Given the description of an element on the screen output the (x, y) to click on. 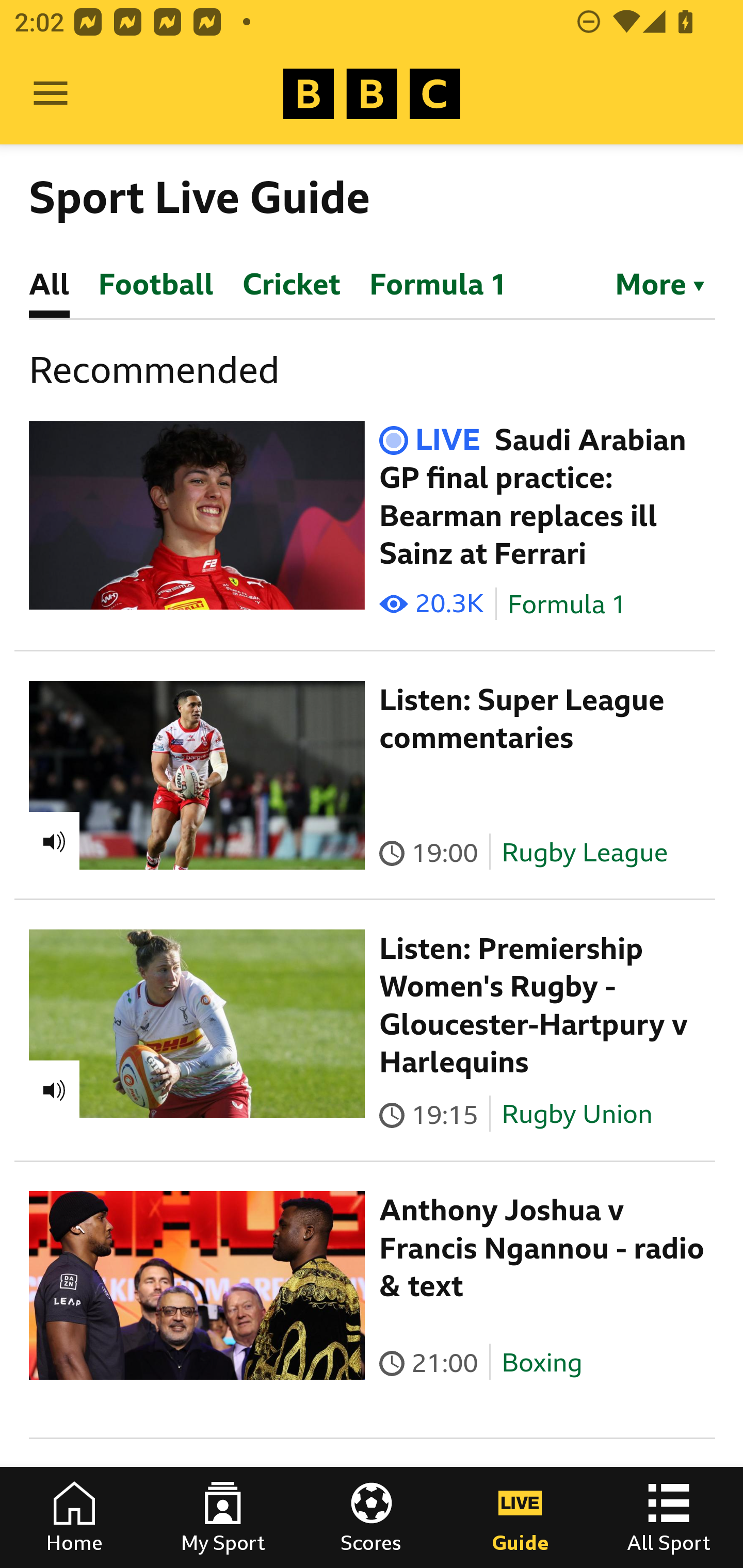
Open Menu (50, 93)
Formula 1 (566, 604)
Listen: Super League commentaries (522, 718)
Rugby League (584, 851)
Rugby Union (576, 1113)
Anthony Joshua v Francis Ngannou - radio & text (541, 1248)
Boxing (541, 1362)
Home (74, 1517)
My Sport (222, 1517)
Scores (371, 1517)
All Sport (668, 1517)
